Given the description of an element on the screen output the (x, y) to click on. 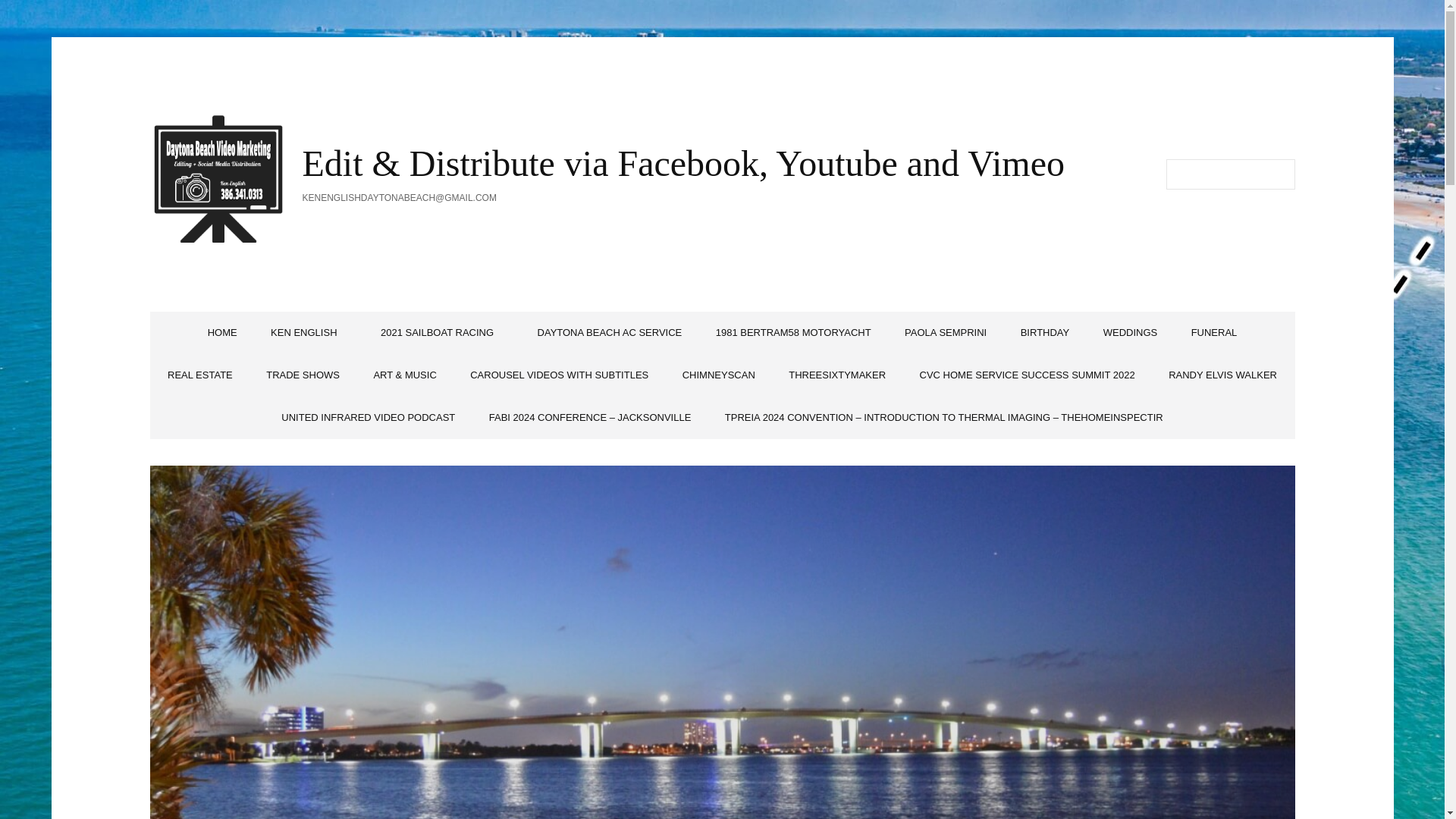
HOME (221, 332)
REAL ESTATE (199, 374)
TRADE SHOWS (302, 374)
DAYTONA BEACH AC SERVICE (609, 332)
WEDDINGS (1130, 332)
1981 BERTRAM58 MOTORYACHT (793, 332)
CAROUSEL VIDEOS WITH SUBTITLES (558, 374)
BIRTHDAY (1045, 332)
SEARCH (1278, 173)
PAOLA SEMPRINI (945, 332)
CVC HOME SERVICE SUCCESS SUMMIT 2022 (1027, 374)
RANDY ELVIS WALKER (1222, 374)
KEN ENGLISH (308, 332)
UNITED INFRARED VIDEO PODCAST (368, 417)
FUNERAL (1214, 332)
